Given the description of an element on the screen output the (x, y) to click on. 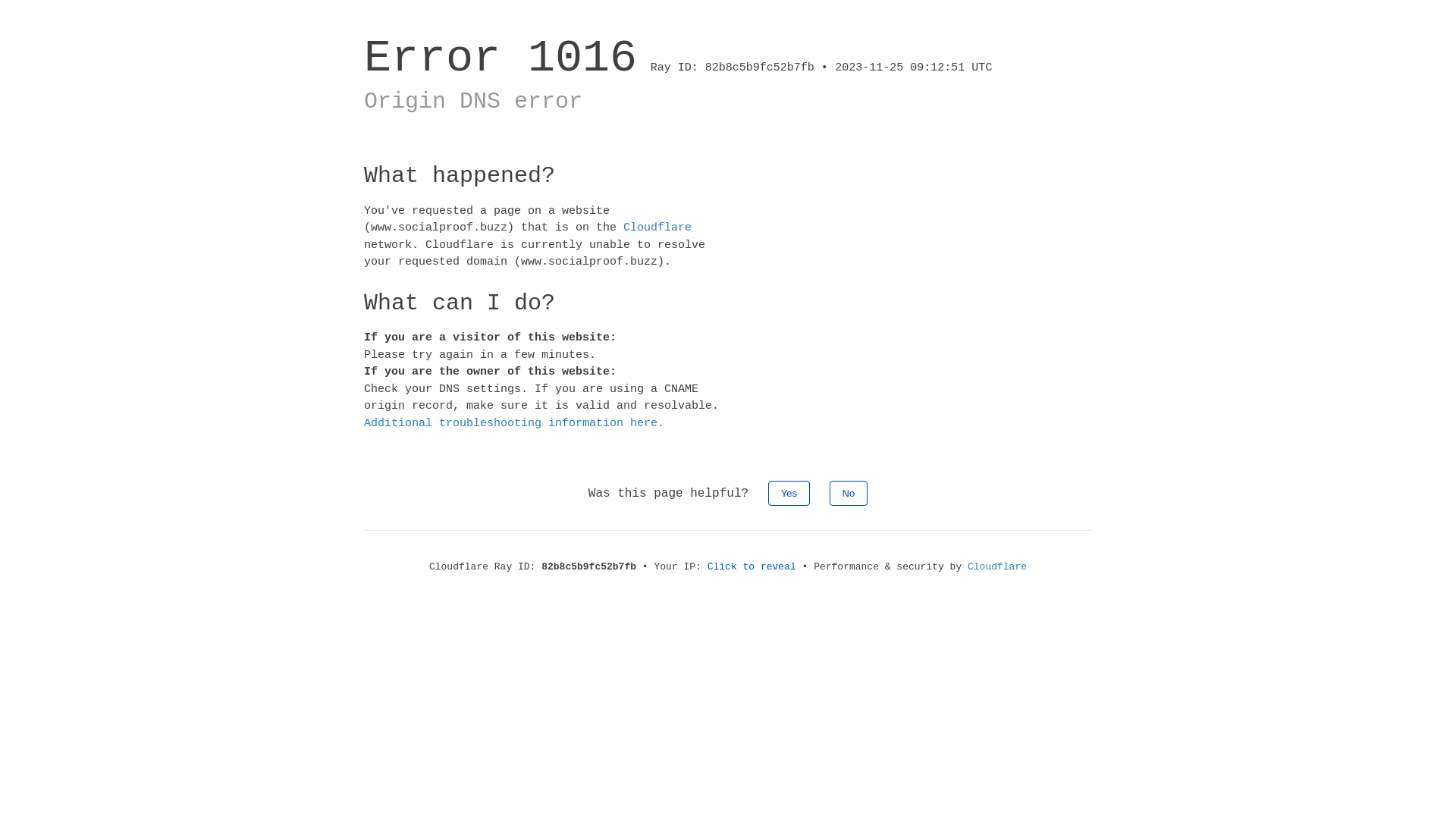
Cloudflare Element type: text (996, 566)
No Element type: text (848, 492)
Additional troubleshooting information here. Element type: text (514, 423)
Yes Element type: text (788, 492)
Cloudflare Element type: text (657, 227)
Click to reveal Element type: text (751, 566)
